Given the description of an element on the screen output the (x, y) to click on. 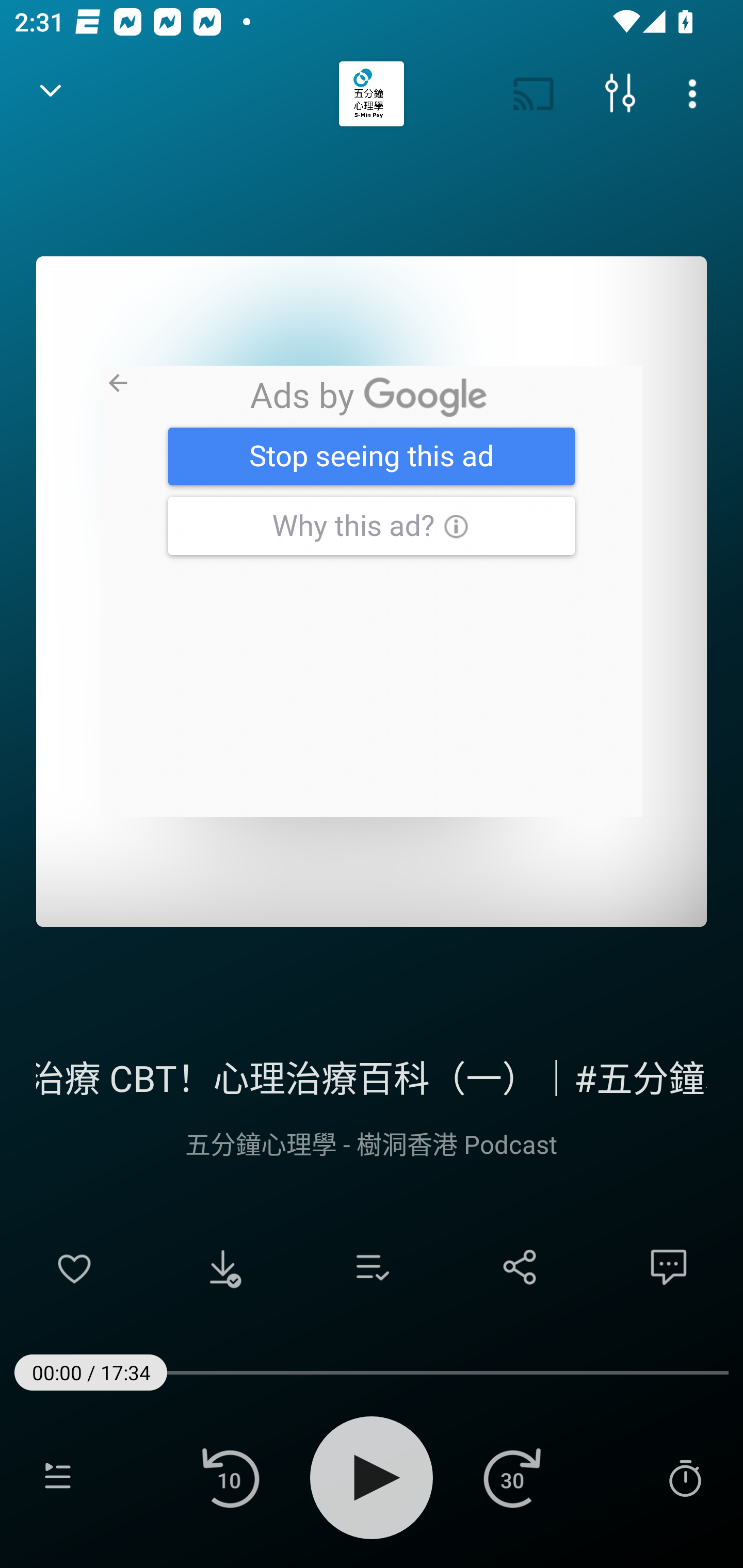
Cast. Disconnected (533, 93)
 Back (50, 94)
三國幻想戰記 Pre-register Pre-register (371, 590)
#PSY｜困擾源於盲點？認知行為治療 CBT！心理治療百科（一）｜#五分鐘心理學 (371, 1075)
五分鐘心理學 - 樹洞香港 Podcast (371, 1142)
Comments (668, 1266)
Add to Favorites (73, 1266)
Add to playlist (371, 1266)
Share (519, 1266)
 Playlist (57, 1477)
Sleep Timer  (684, 1477)
